Given the description of an element on the screen output the (x, y) to click on. 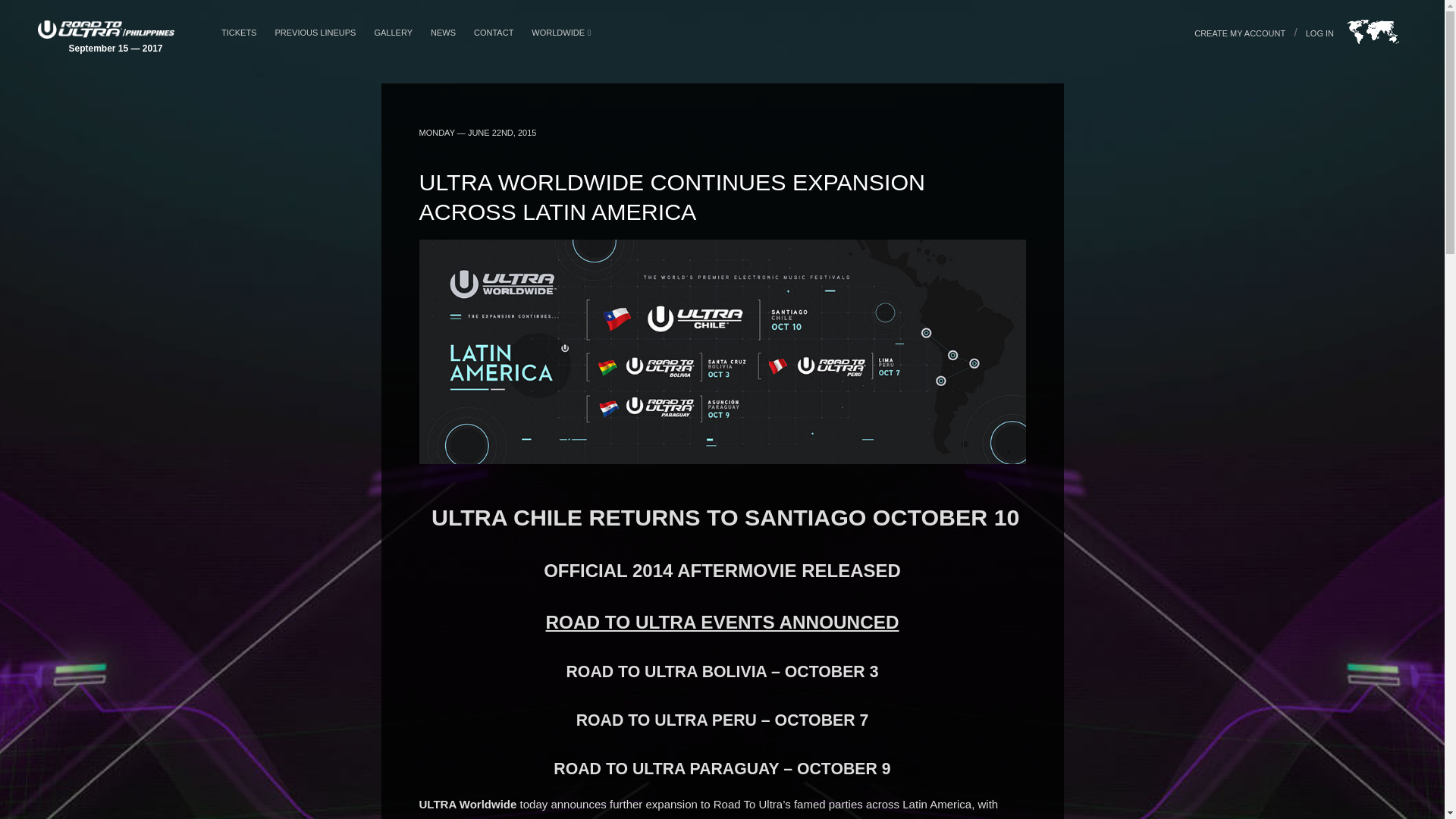
Road to Ultra Philippines (105, 36)
WORLDWIDE (559, 33)
LOG IN (1319, 33)
Ultra Worldwide Continues Expansion Across Latin America (722, 459)
PREVIOUS LINEUPS (314, 33)
CREATE MY ACCOUNT (1239, 33)
